Given the description of an element on the screen output the (x, y) to click on. 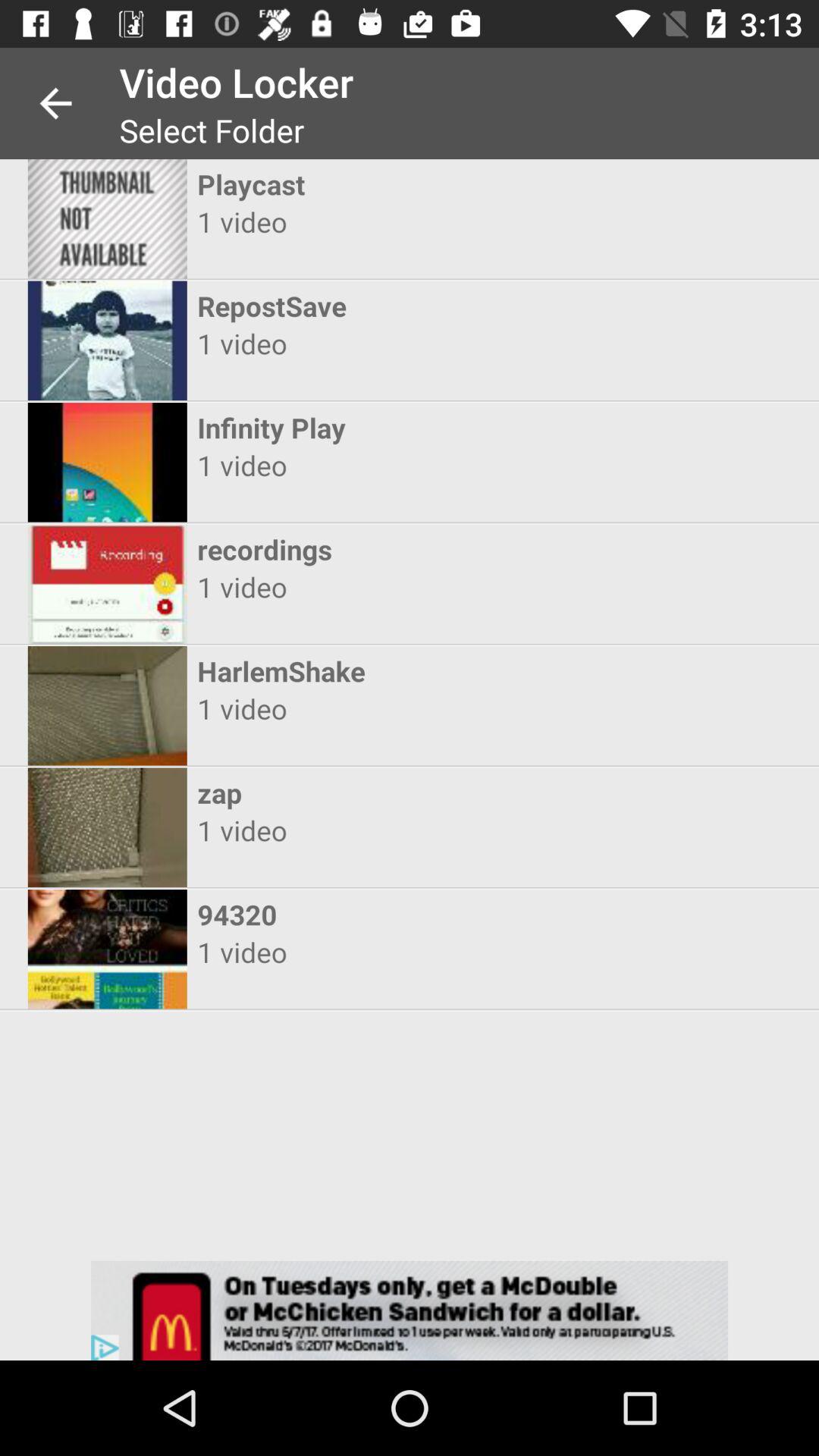
click the item below the 1 video icon (396, 792)
